Given the description of an element on the screen output the (x, y) to click on. 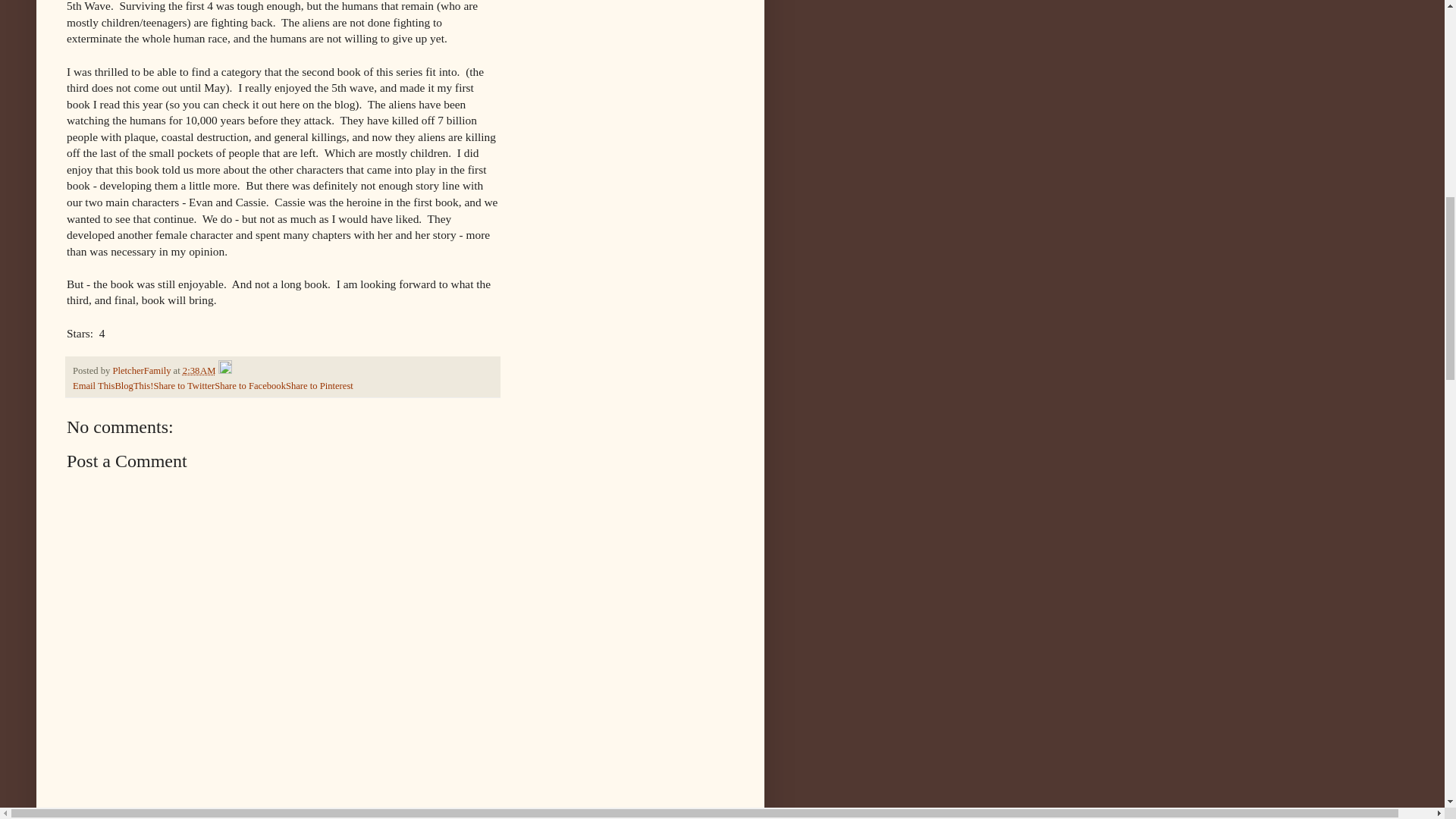
Share to Facebook (249, 385)
Share to Twitter (183, 385)
Share to Twitter (183, 385)
BlogThis! (133, 385)
Older Post (152, 811)
permanent link (199, 370)
author profile (142, 370)
BlogThis! (133, 385)
Older Post (152, 811)
Share to Facebook (249, 385)
Share to Pinterest (319, 385)
PletcherFamily (142, 370)
Edit Post (224, 370)
Share to Pinterest (319, 385)
